Given the description of an element on the screen output the (x, y) to click on. 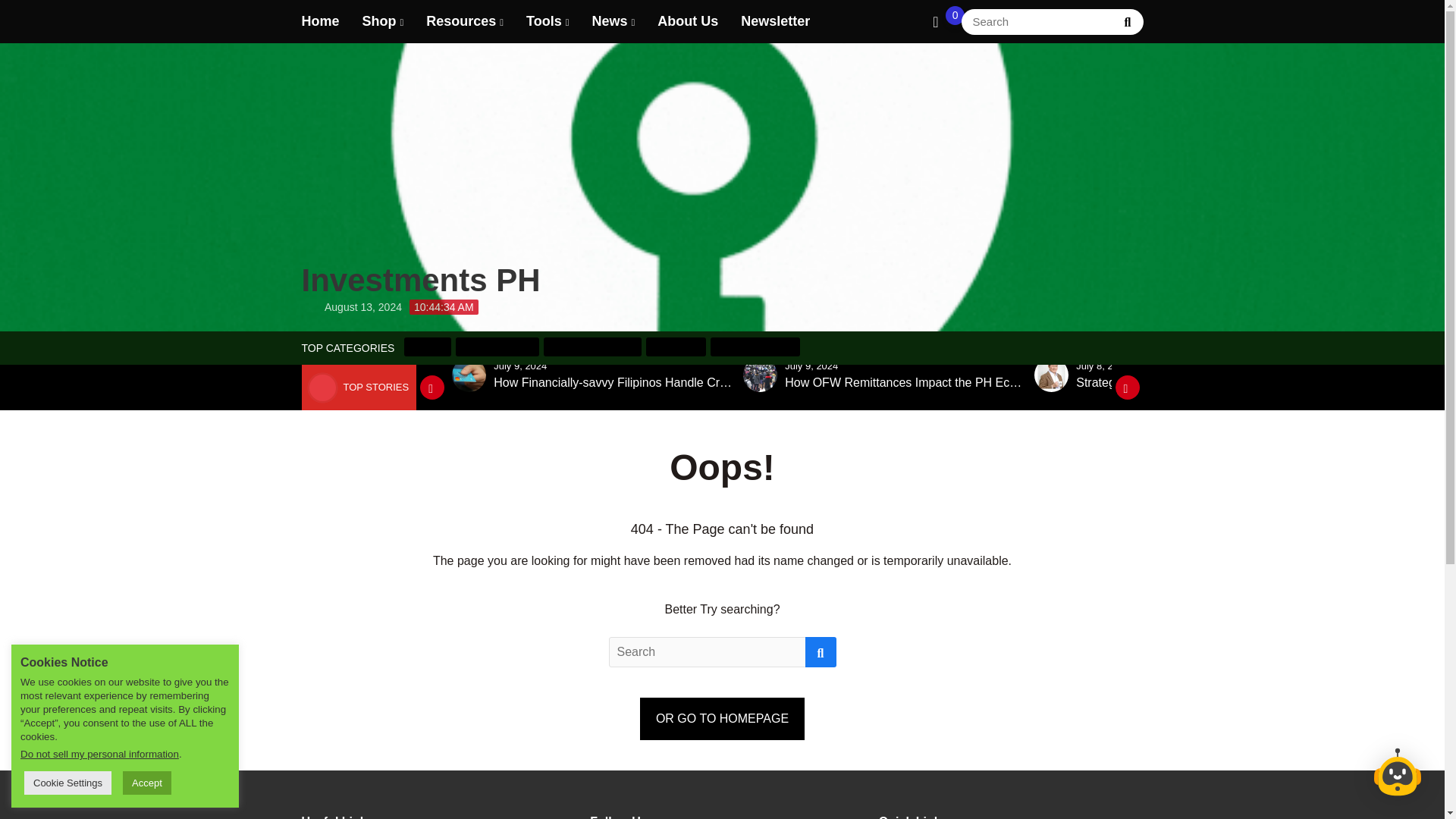
Calculator (676, 346)
Financial Advice (754, 346)
Investments PH (420, 177)
Business Updates (592, 346)
Resources (461, 20)
About Us (687, 20)
Articles (427, 346)
Tools (543, 20)
Newsletter (775, 20)
Breaking News (496, 346)
